Given the description of an element on the screen output the (x, y) to click on. 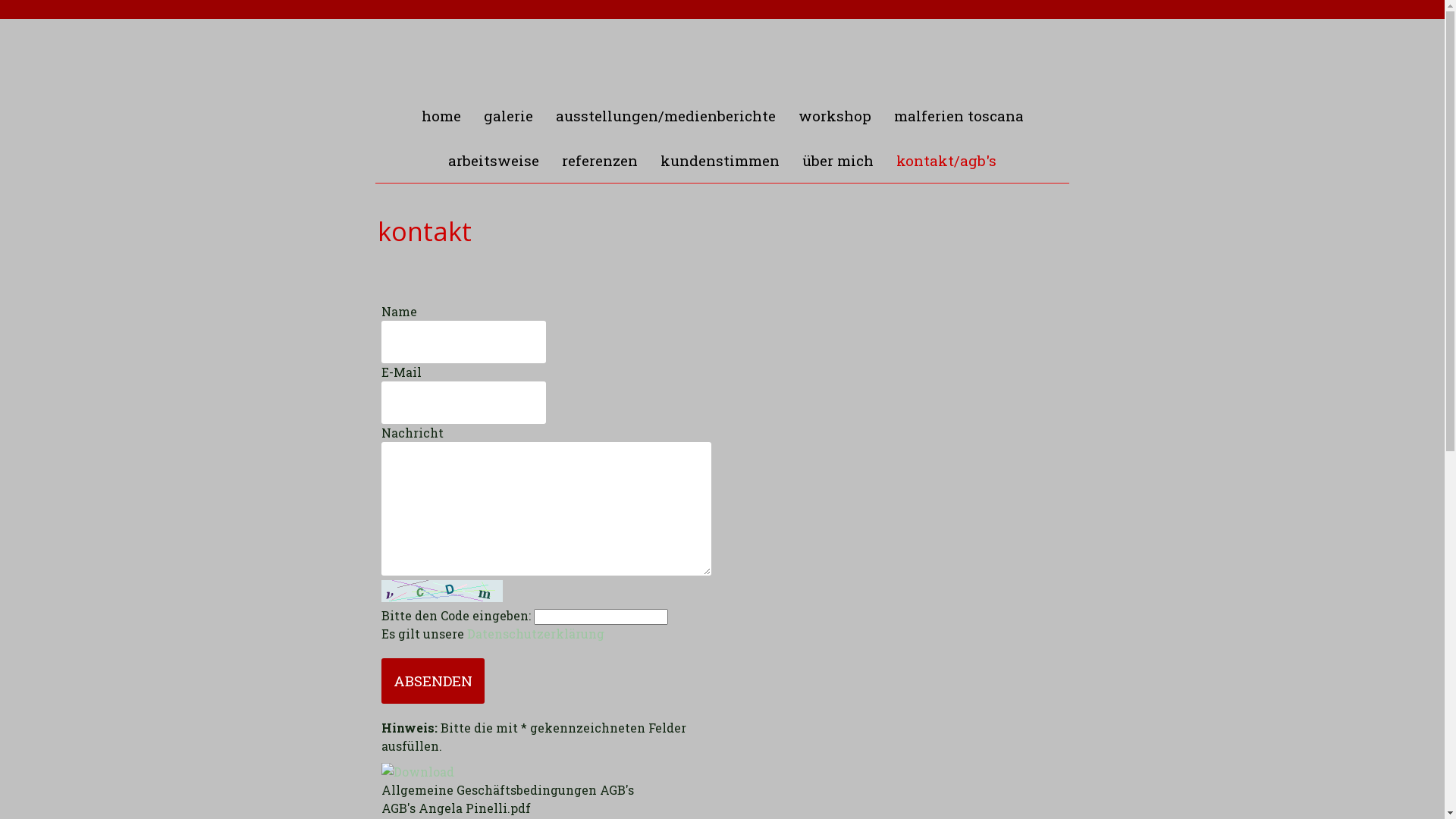
kundenstimmen Element type: text (719, 160)
home Element type: text (440, 116)
ausstellungen/medienberichte Element type: text (665, 116)
Absenden Element type: text (431, 681)
arbeitsweise Element type: text (493, 160)
referenzen Element type: text (599, 160)
malferien toscana Element type: text (958, 116)
kontakt/agb's Element type: text (945, 160)
galerie Element type: text (507, 116)
workshop Element type: text (834, 116)
